Given the description of an element on the screen output the (x, y) to click on. 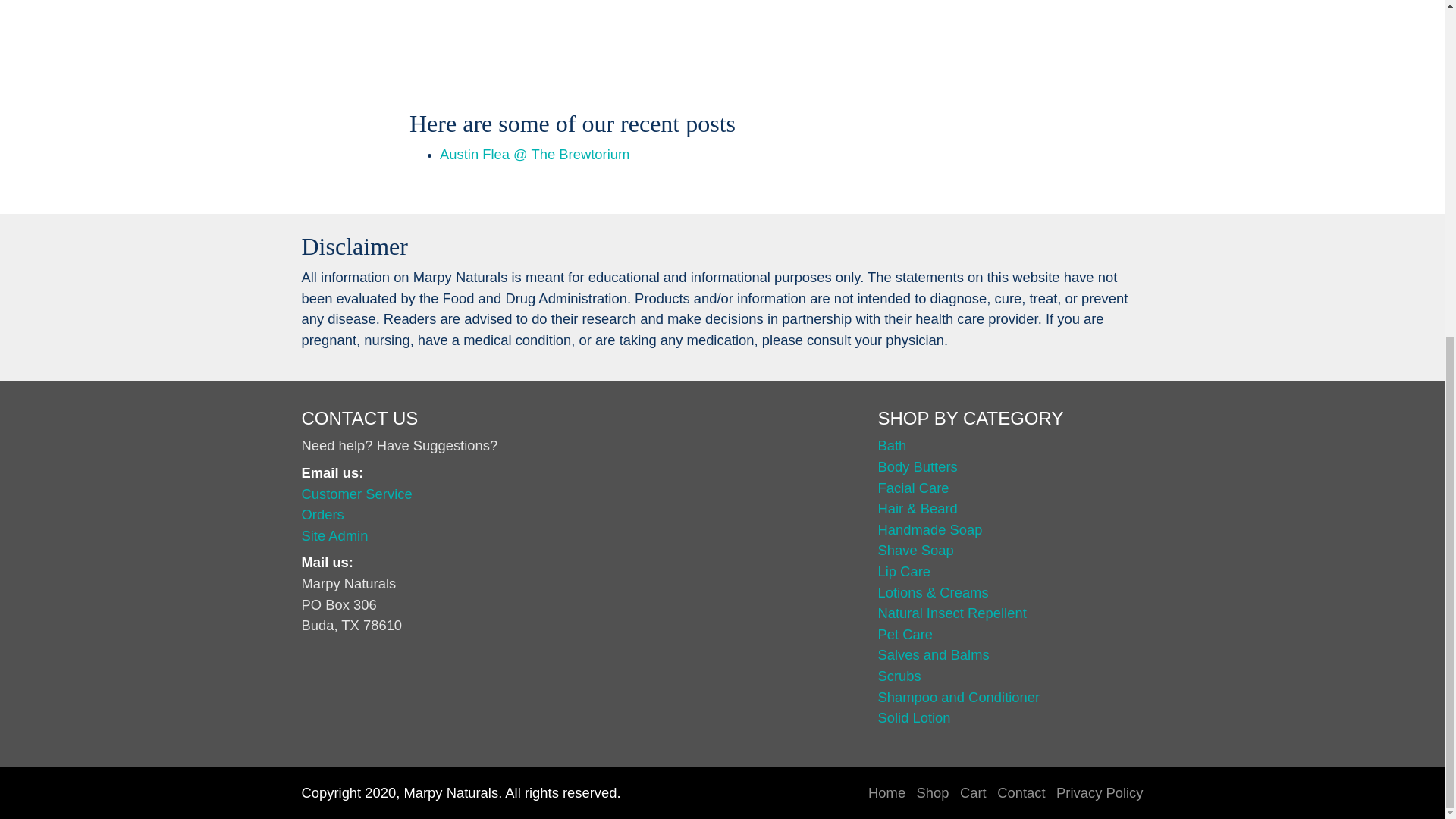
Scrubs (898, 675)
Contact (1021, 792)
Natural Insect Repellent (951, 612)
Privacy Policy (1099, 792)
Orders (322, 514)
Pet Care (905, 634)
Body Butters (916, 466)
Facial Care (913, 487)
Shop (933, 792)
Lip Care (903, 571)
